Given the description of an element on the screen output the (x, y) to click on. 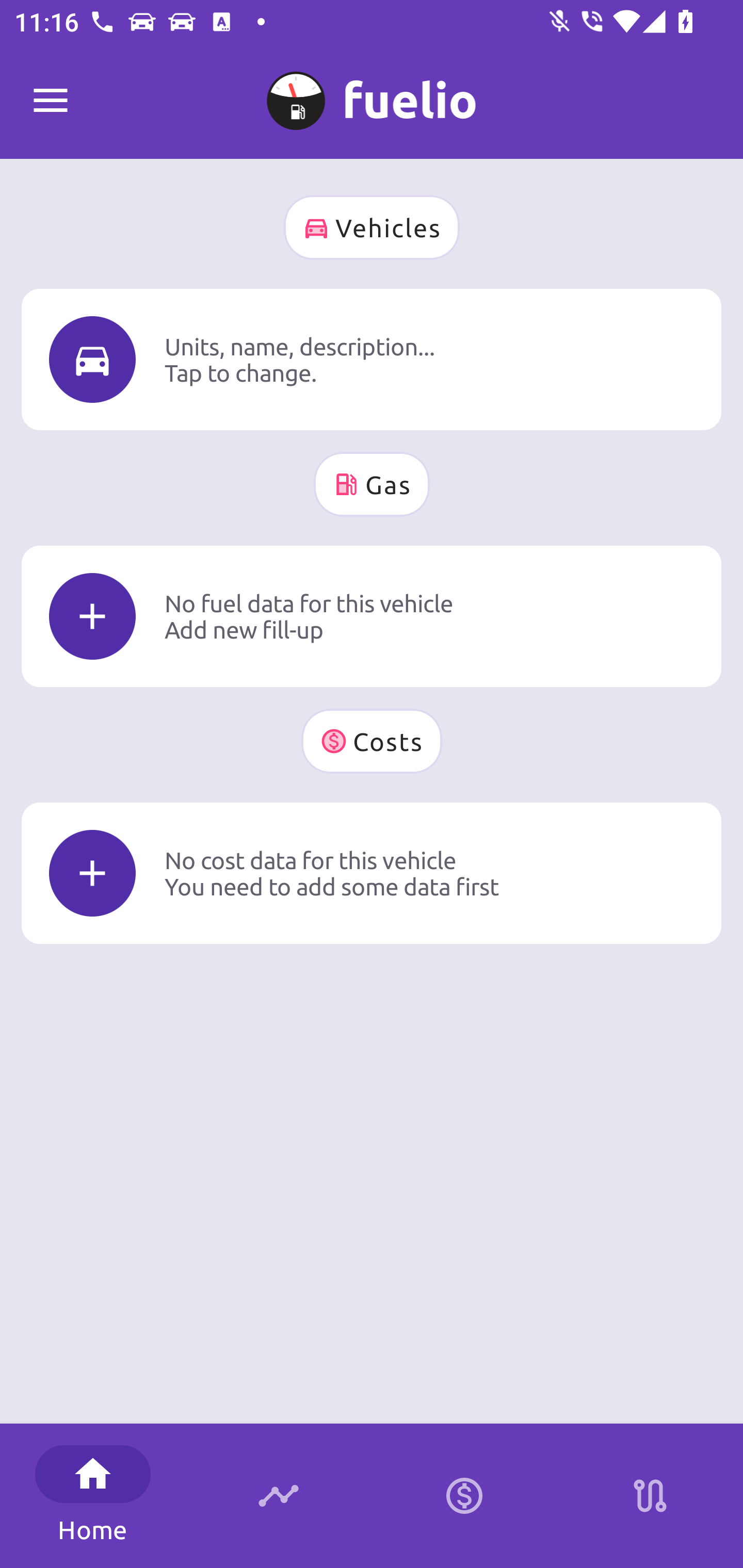
A No name 0 km (371, 92)
Fuelio (50, 101)
Vehicles (371, 227)
Icon Units, name, description...
Tap to change. (371, 358)
Icon (92, 359)
Gas (371, 484)
Icon No fuel data for this vehicle
Add new fill-up (371, 615)
Icon (92, 616)
Costs (371, 740)
Icon (92, 873)
Timeline (278, 1495)
Calculator (464, 1495)
Stations on route (650, 1495)
